Given the description of an element on the screen output the (x, y) to click on. 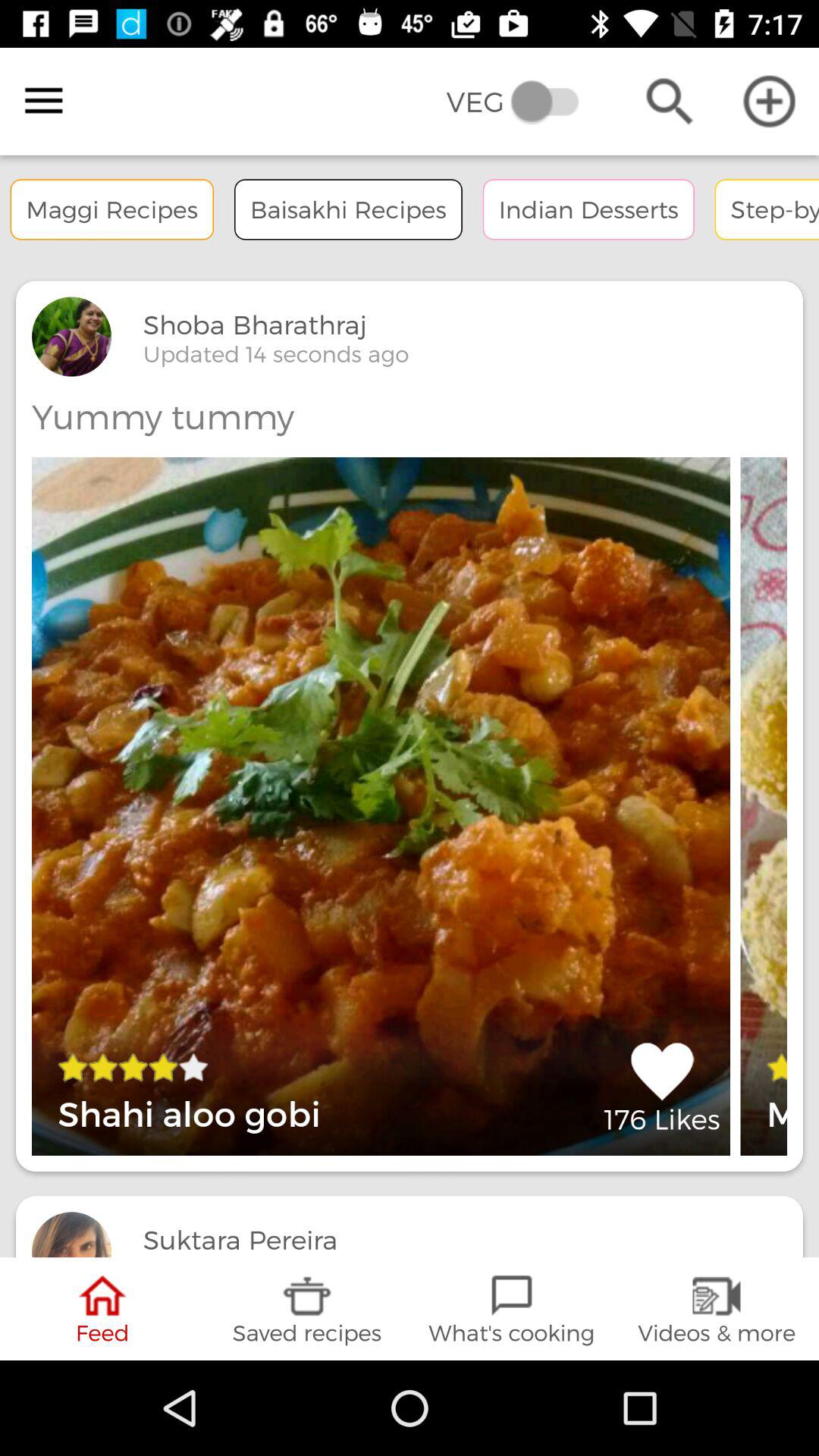
open the item to the left of veg item (43, 101)
